Given the description of an element on the screen output the (x, y) to click on. 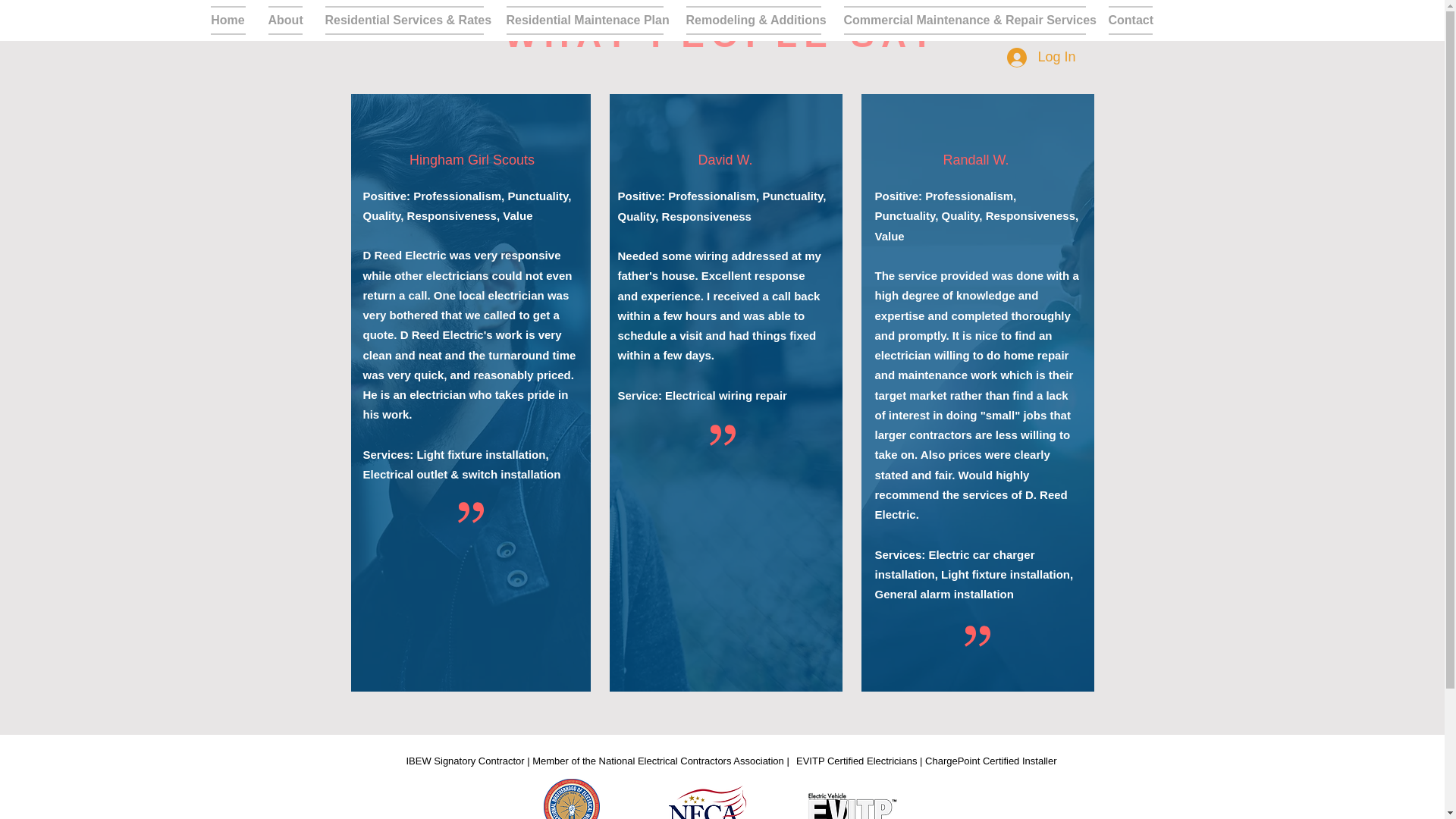
Residential Maintenace Plan (584, 20)
Log In (1040, 57)
About (284, 20)
Contact (1123, 20)
Home (234, 20)
